Given the description of an element on the screen output the (x, y) to click on. 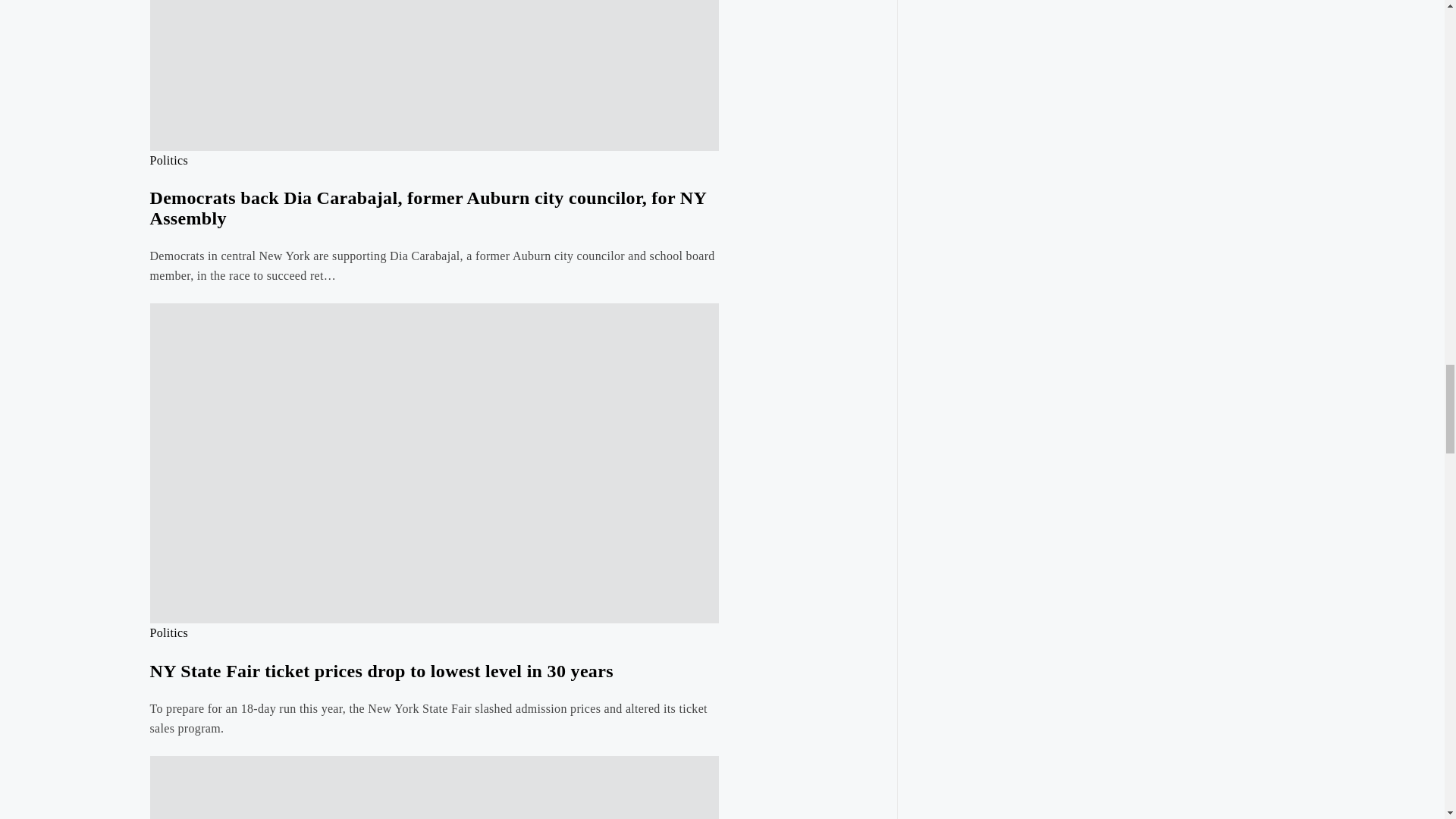
NY State Fair ticket prices drop to lowest level in 30 years (380, 670)
Politics (169, 632)
Politics (169, 160)
